Given the description of an element on the screen output the (x, y) to click on. 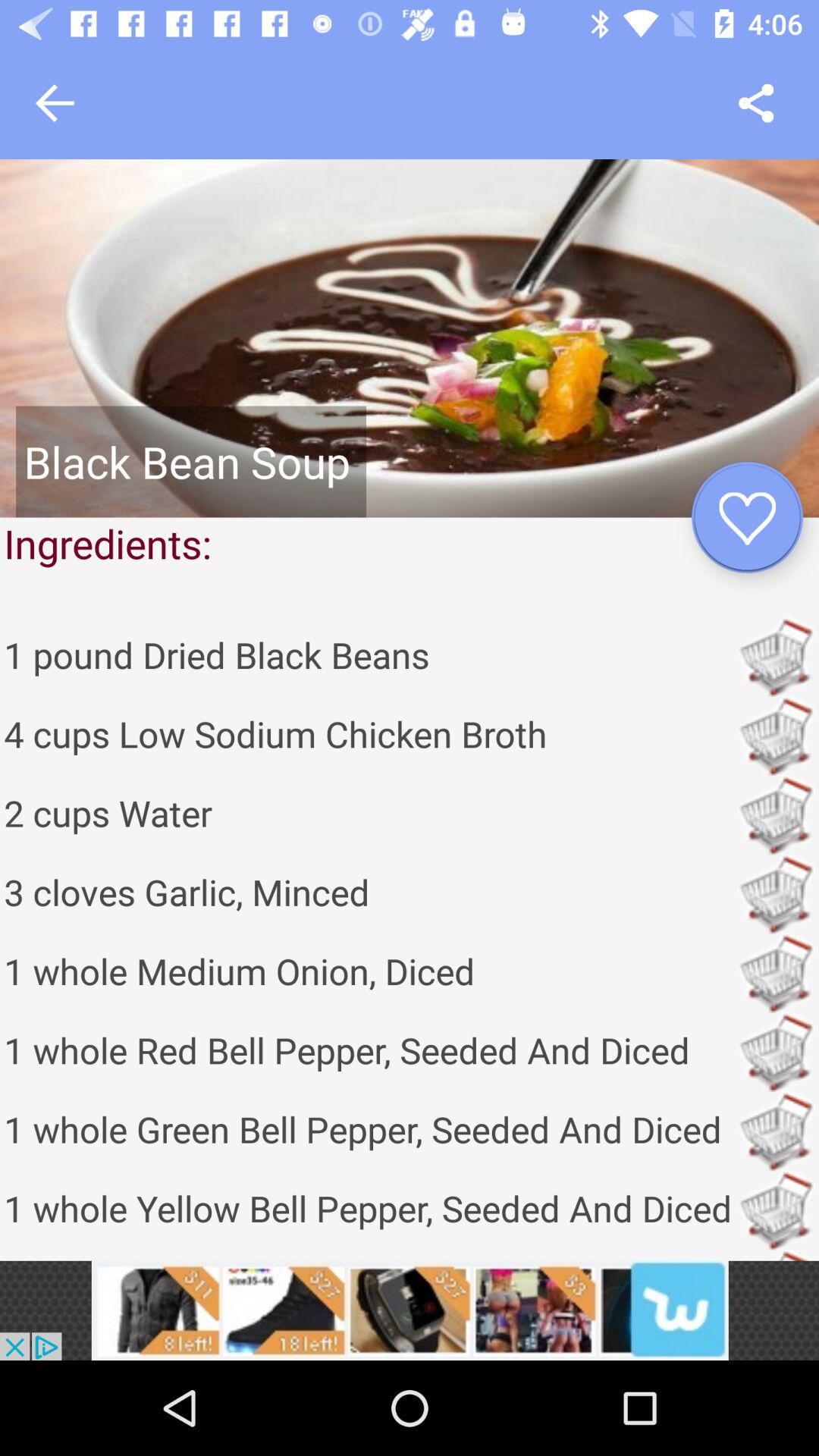
access advertising (409, 1310)
